Given the description of an element on the screen output the (x, y) to click on. 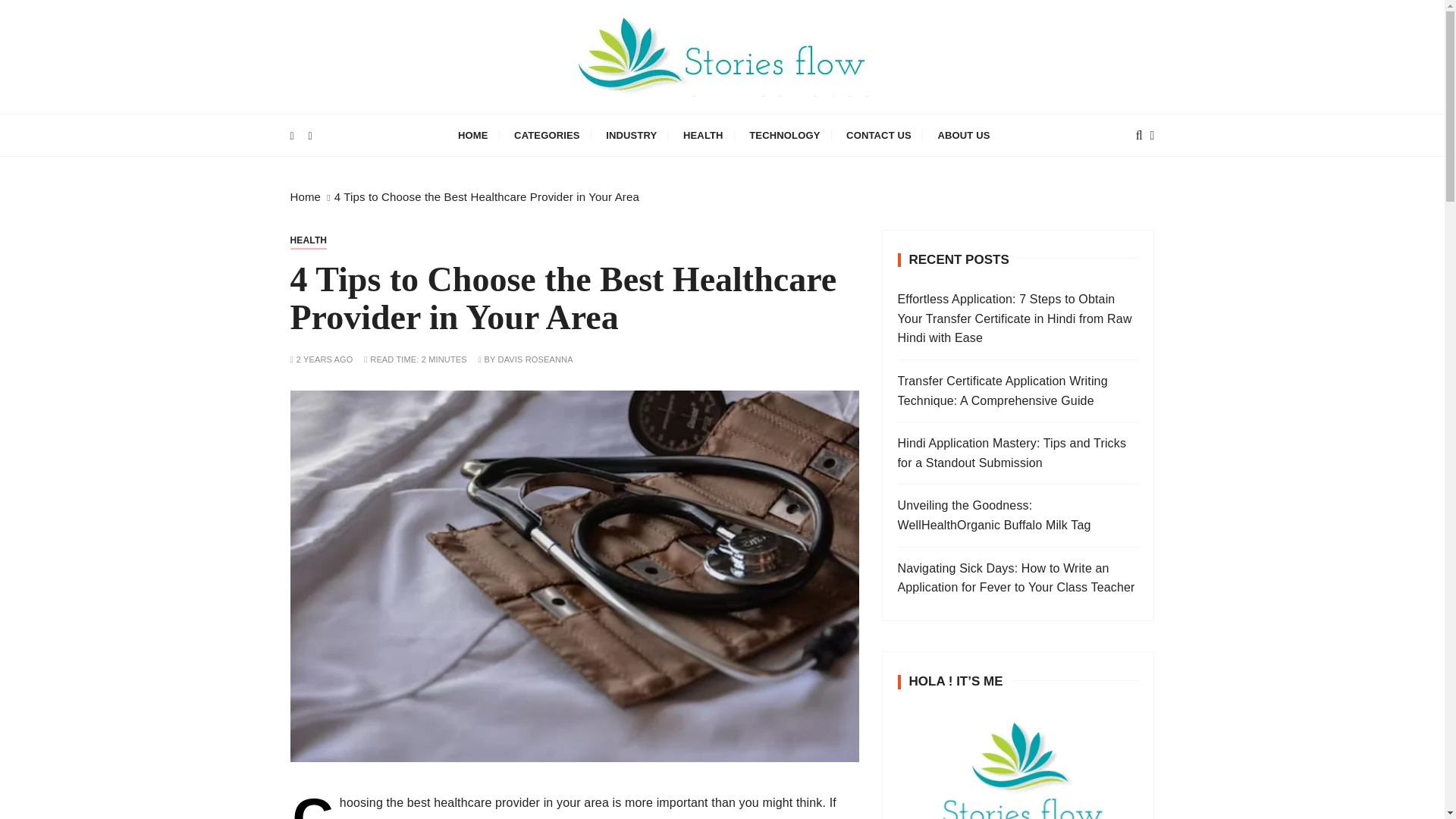
HEALTH (703, 135)
INDUSTRY (631, 135)
CONTACT US (878, 135)
HOME (472, 135)
ABOUT US (963, 135)
CATEGORIES (546, 135)
TECHNOLOGY (784, 135)
